Given the description of an element on the screen output the (x, y) to click on. 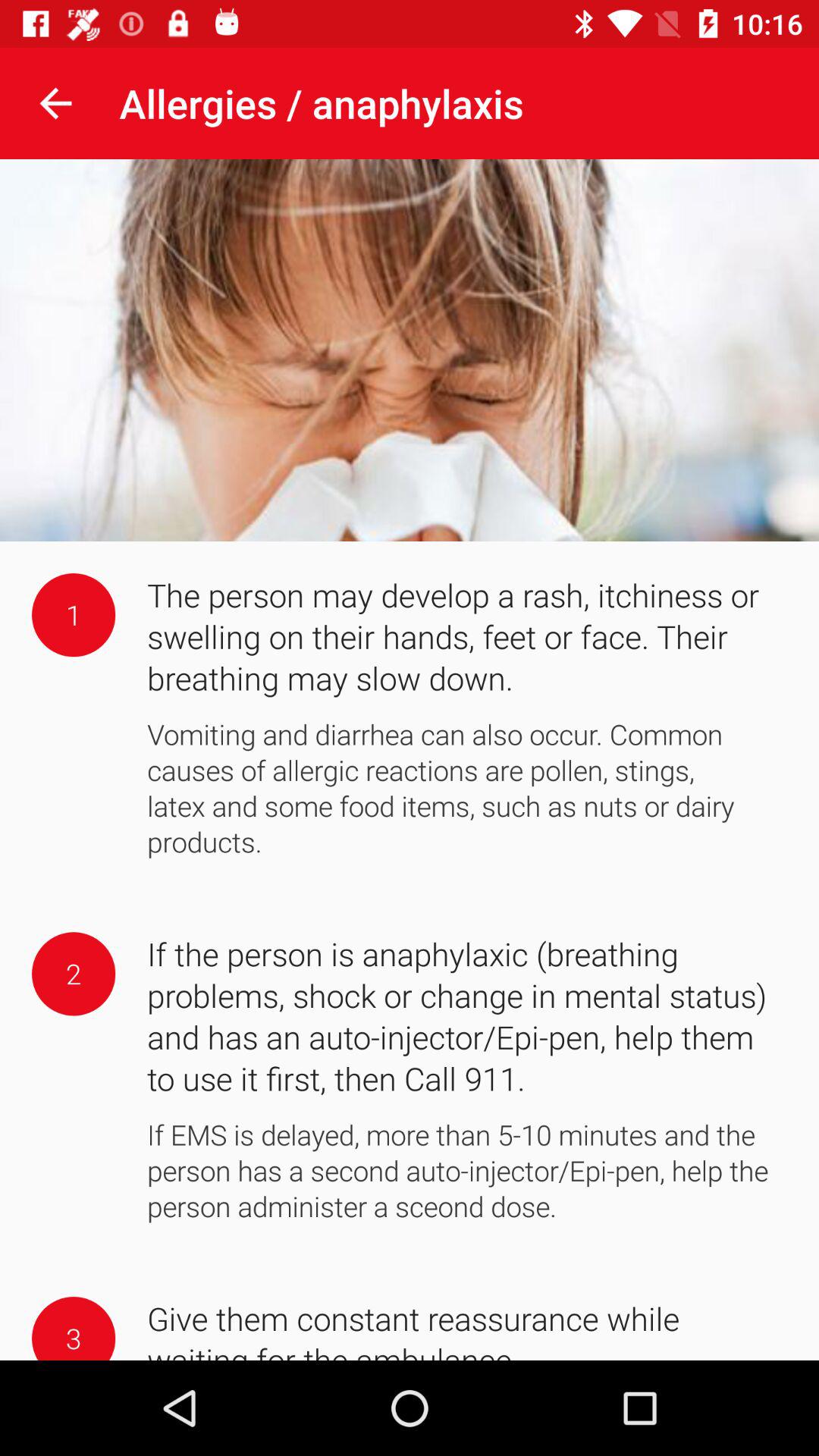
turn off the item next to the allergies / anaphylaxis (55, 103)
